Given the description of an element on the screen output the (x, y) to click on. 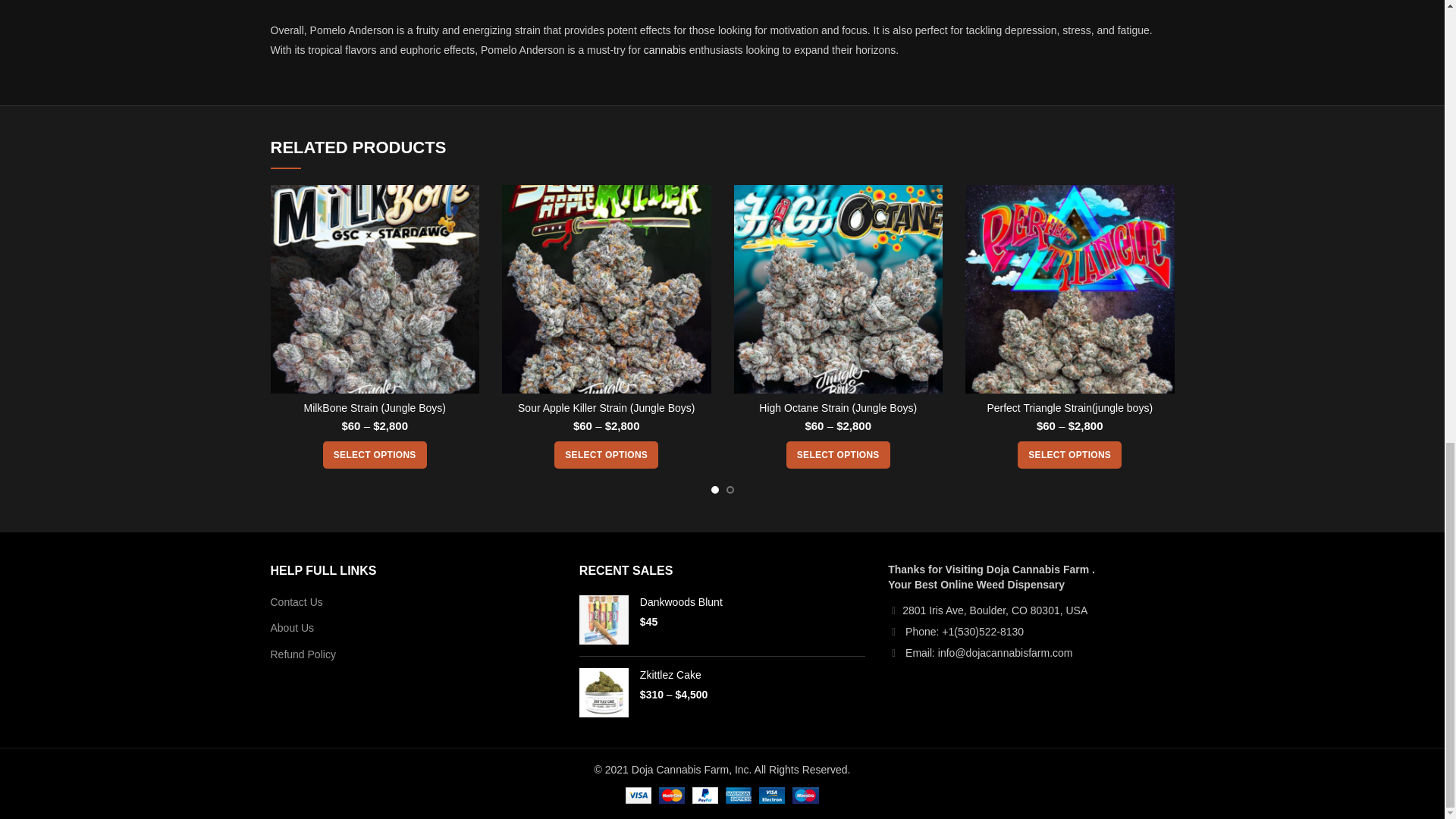
Zkittlez Cake (603, 692)
Dankwoods Blunt (603, 619)
Zkittlez Cake (752, 674)
Dankwoods Blunt (752, 602)
